Given the description of an element on the screen output the (x, y) to click on. 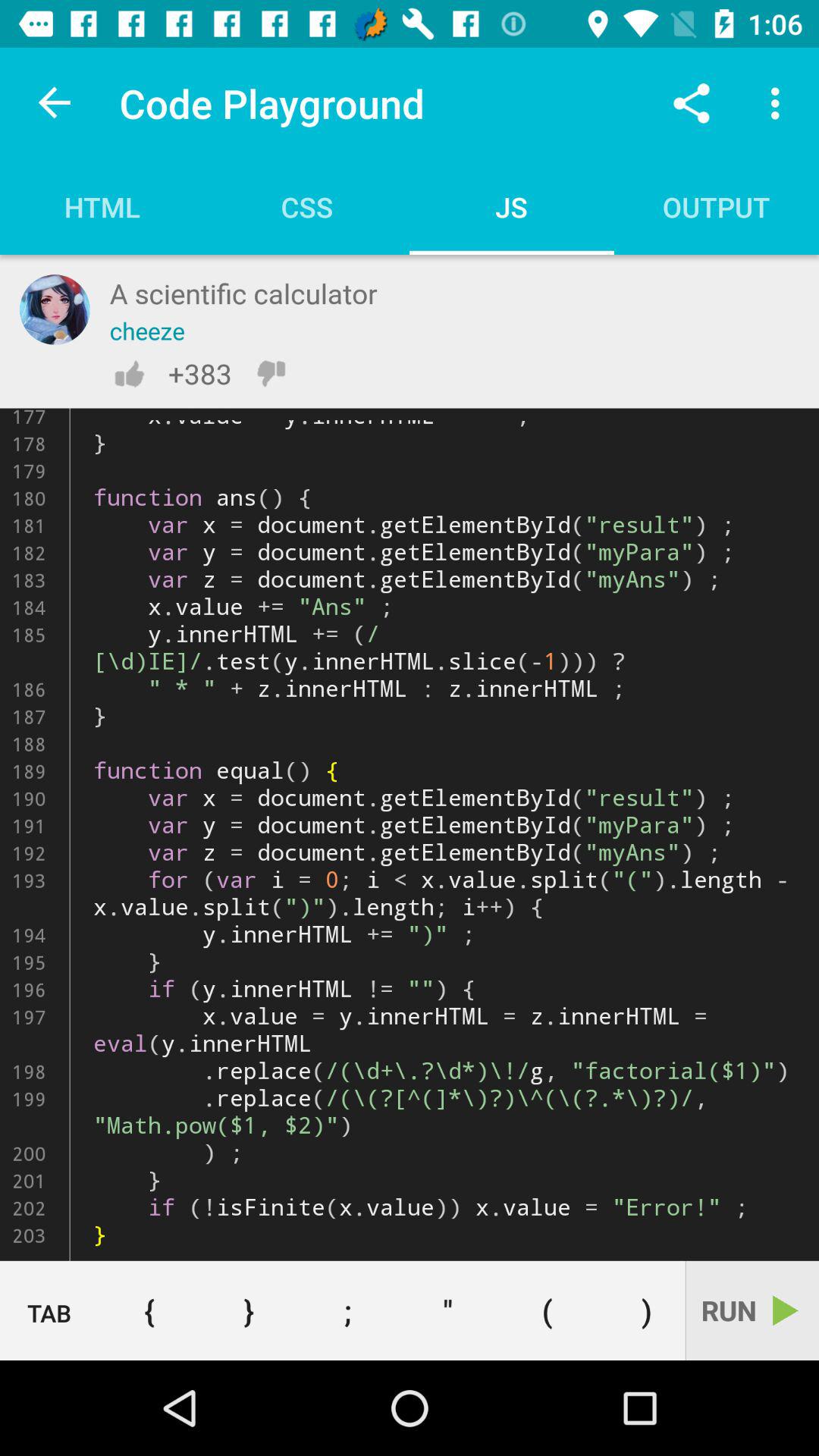
flip to the ; icon (348, 1310)
